Given the description of an element on the screen output the (x, y) to click on. 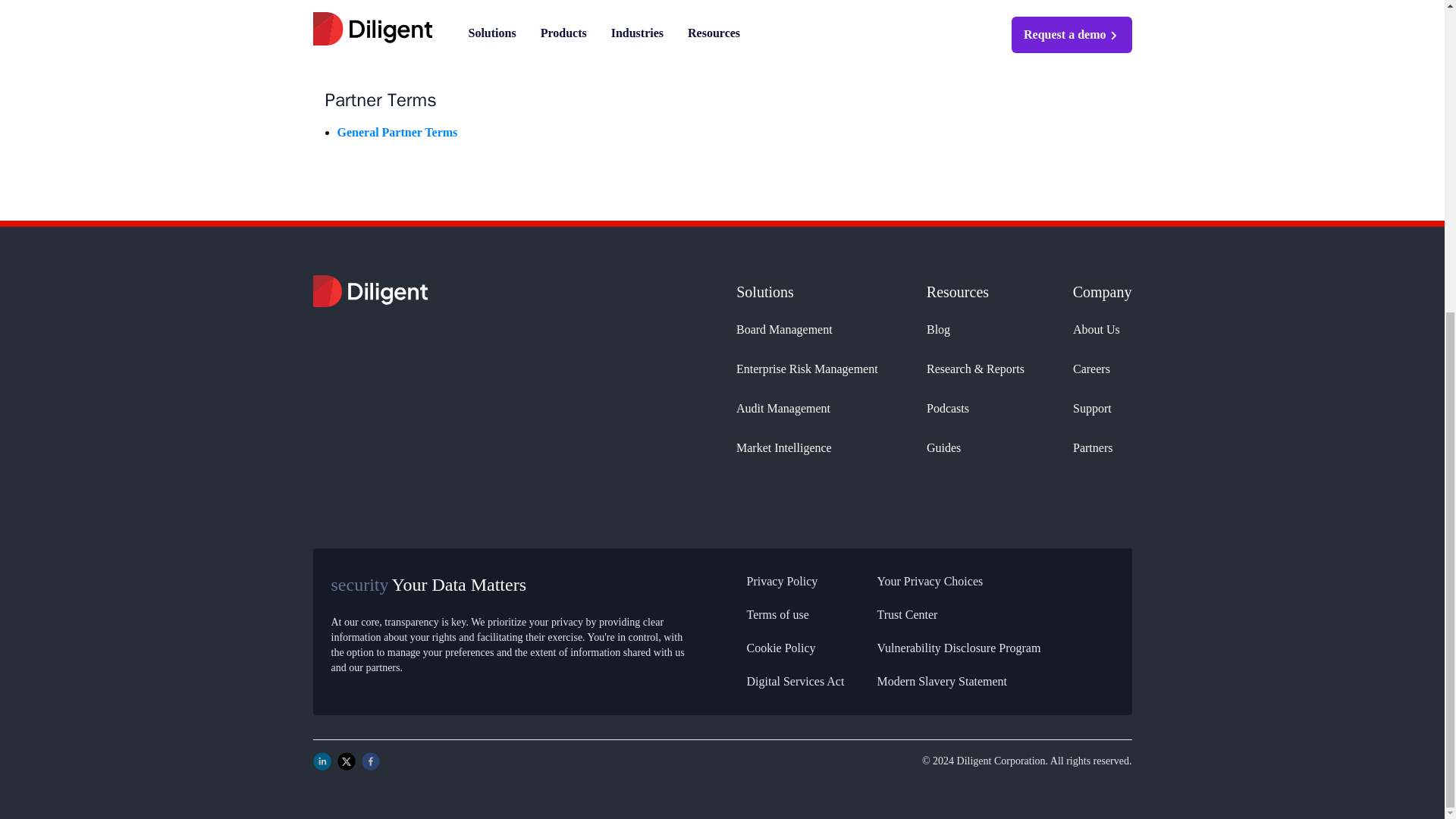
Resources (975, 291)
Board Management (806, 330)
Diligent General Privacy Policy (418, 24)
Blog (975, 330)
Diligent Cookie Policy (393, 42)
Market Intelligence (806, 447)
General Partner Terms (396, 132)
Company (1102, 291)
About Us (1102, 330)
Guides (975, 447)
Solutions (806, 291)
Diligent Subprocessor List (405, 60)
Enterprise Risk Management (806, 369)
Careers (1102, 369)
Audit Management (806, 408)
